Given the description of an element on the screen output the (x, y) to click on. 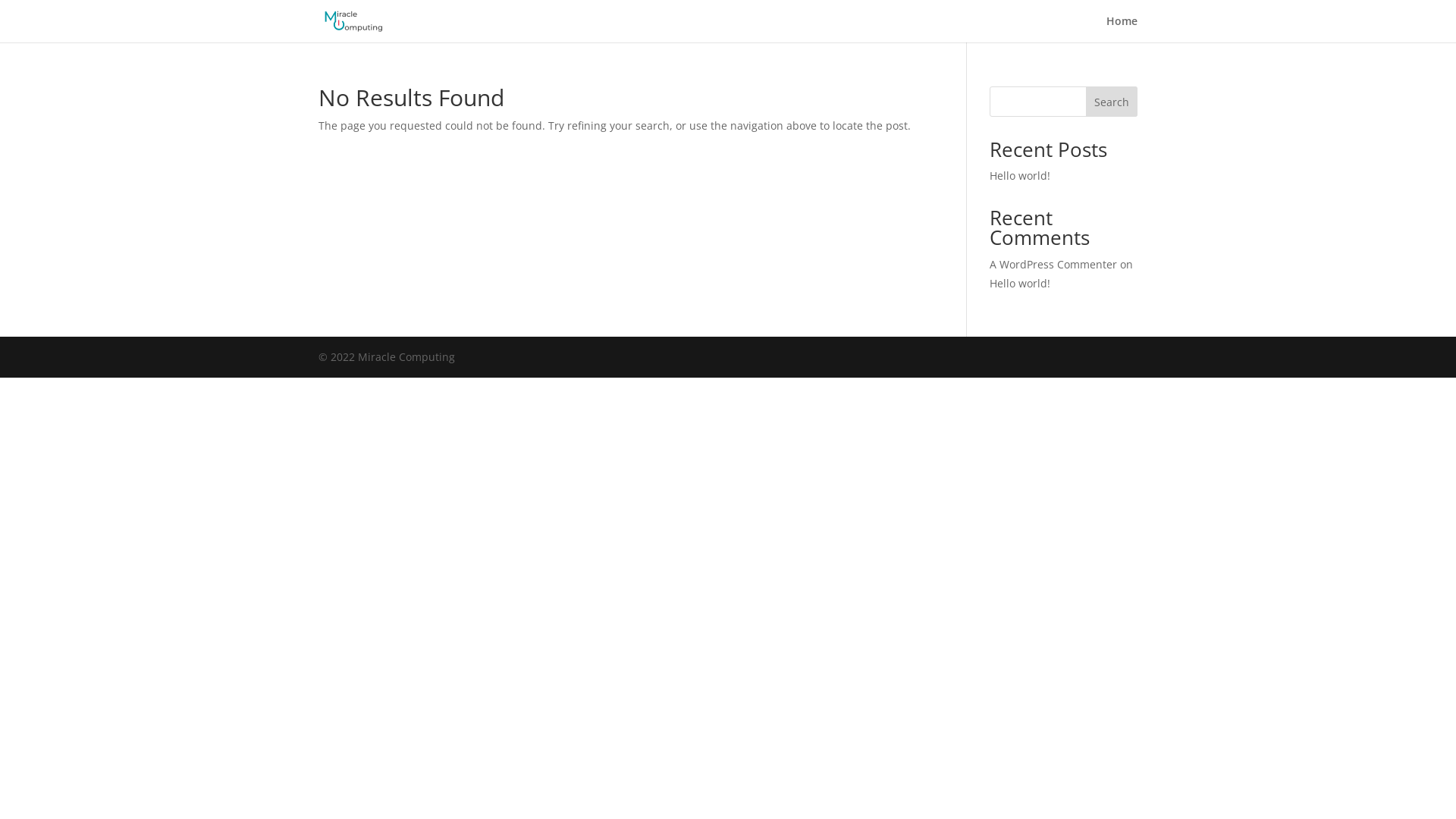
Hello world! Element type: text (1019, 175)
A WordPress Commenter Element type: text (1053, 264)
Hello world! Element type: text (1019, 283)
Search Element type: text (1111, 101)
Home Element type: text (1121, 28)
